Given the description of an element on the screen output the (x, y) to click on. 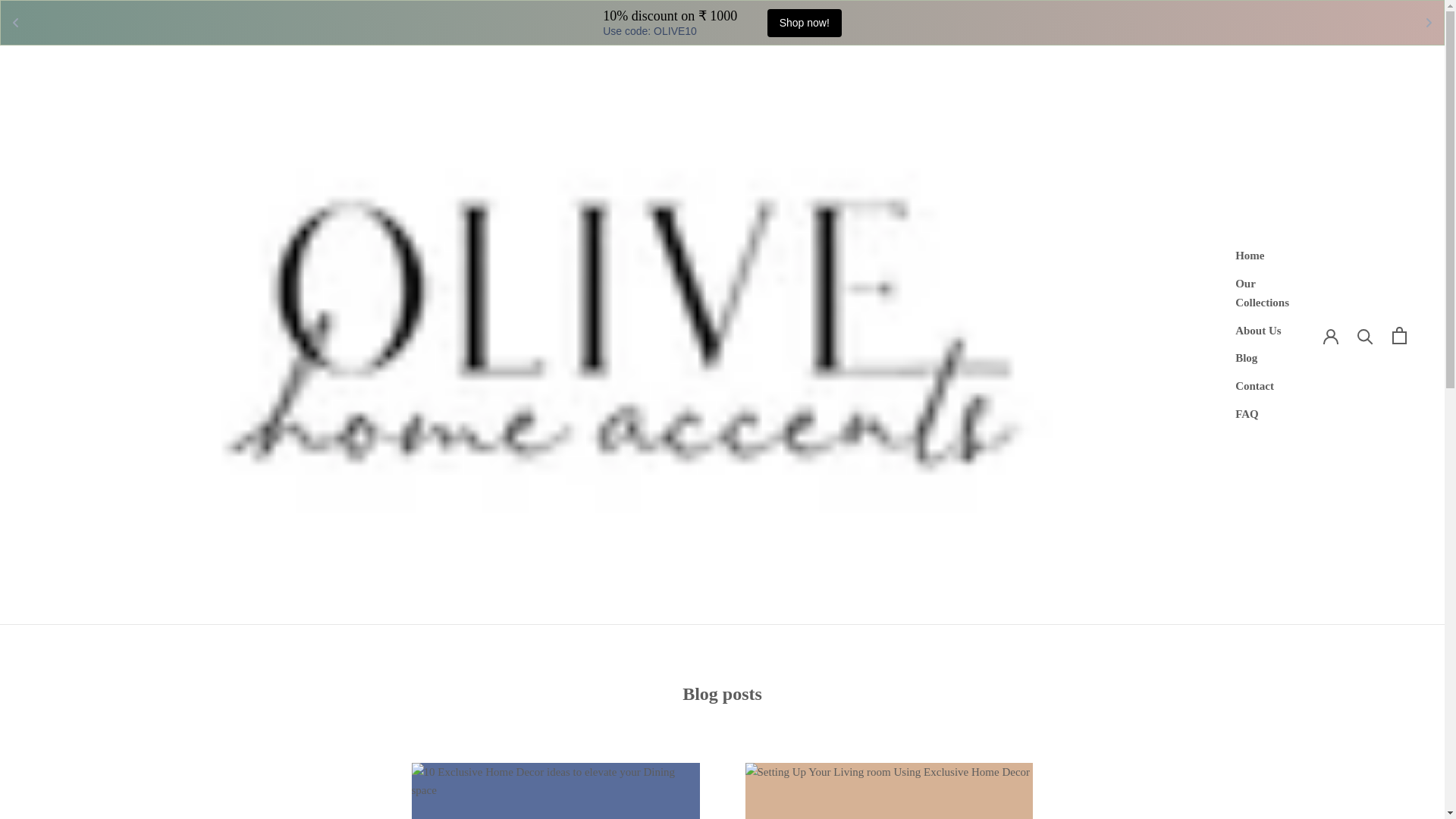
Shop now! (804, 22)
Our Collections (1261, 292)
